Given the description of an element on the screen output the (x, y) to click on. 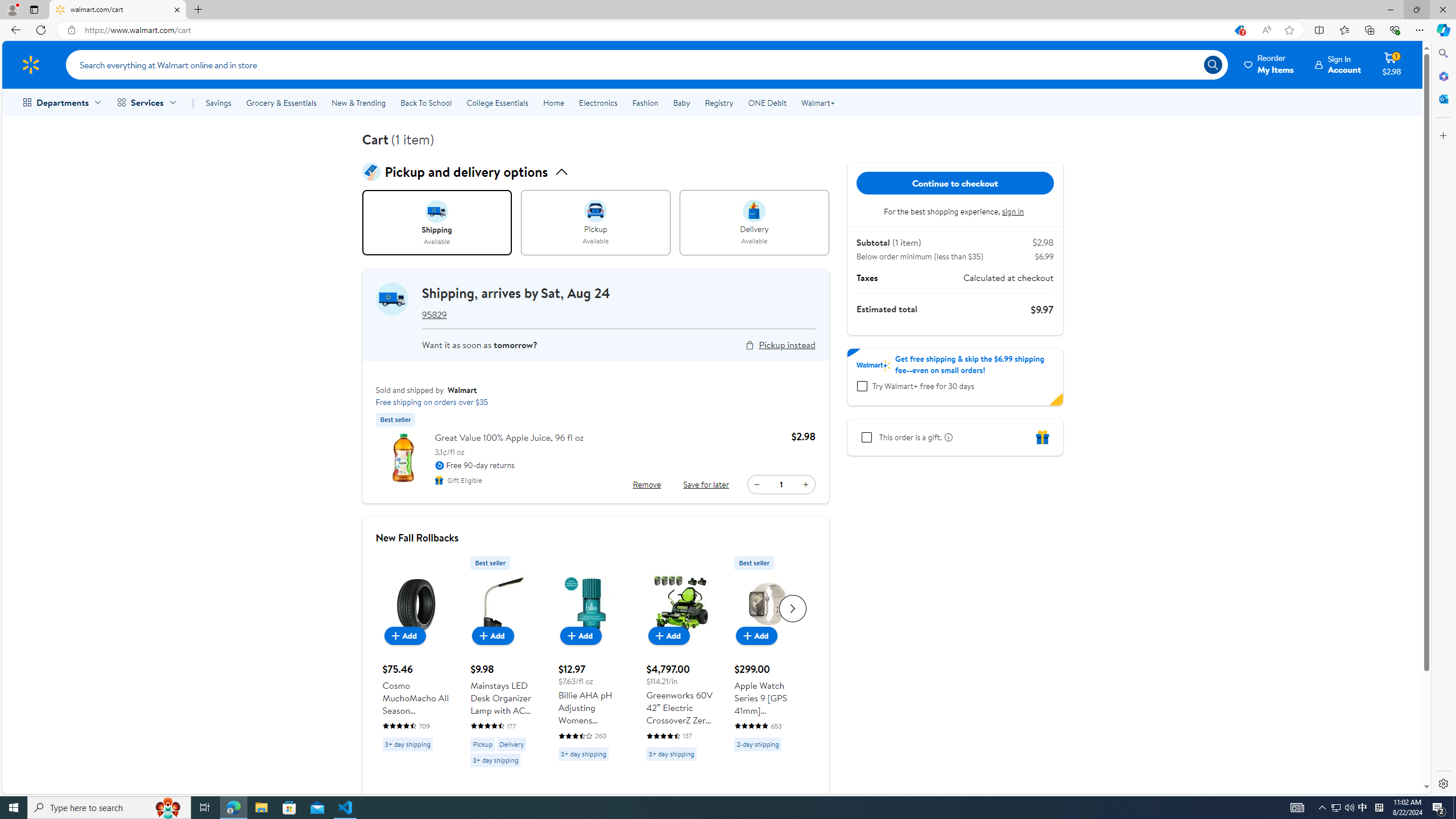
Electronics (598, 102)
Walmart Plus (873, 365)
Remove Great Value 100% Apple Juice, 96 fl oz (646, 484)
Grocery & Essentials (280, 102)
fulfillment logo (391, 298)
intent image for pickup (595, 210)
Reorder My Items (1269, 64)
Walmart+ (817, 102)
Next slide for horizontalScrollerRecommendations list (792, 608)
Baby (681, 102)
